Given the description of an element on the screen output the (x, y) to click on. 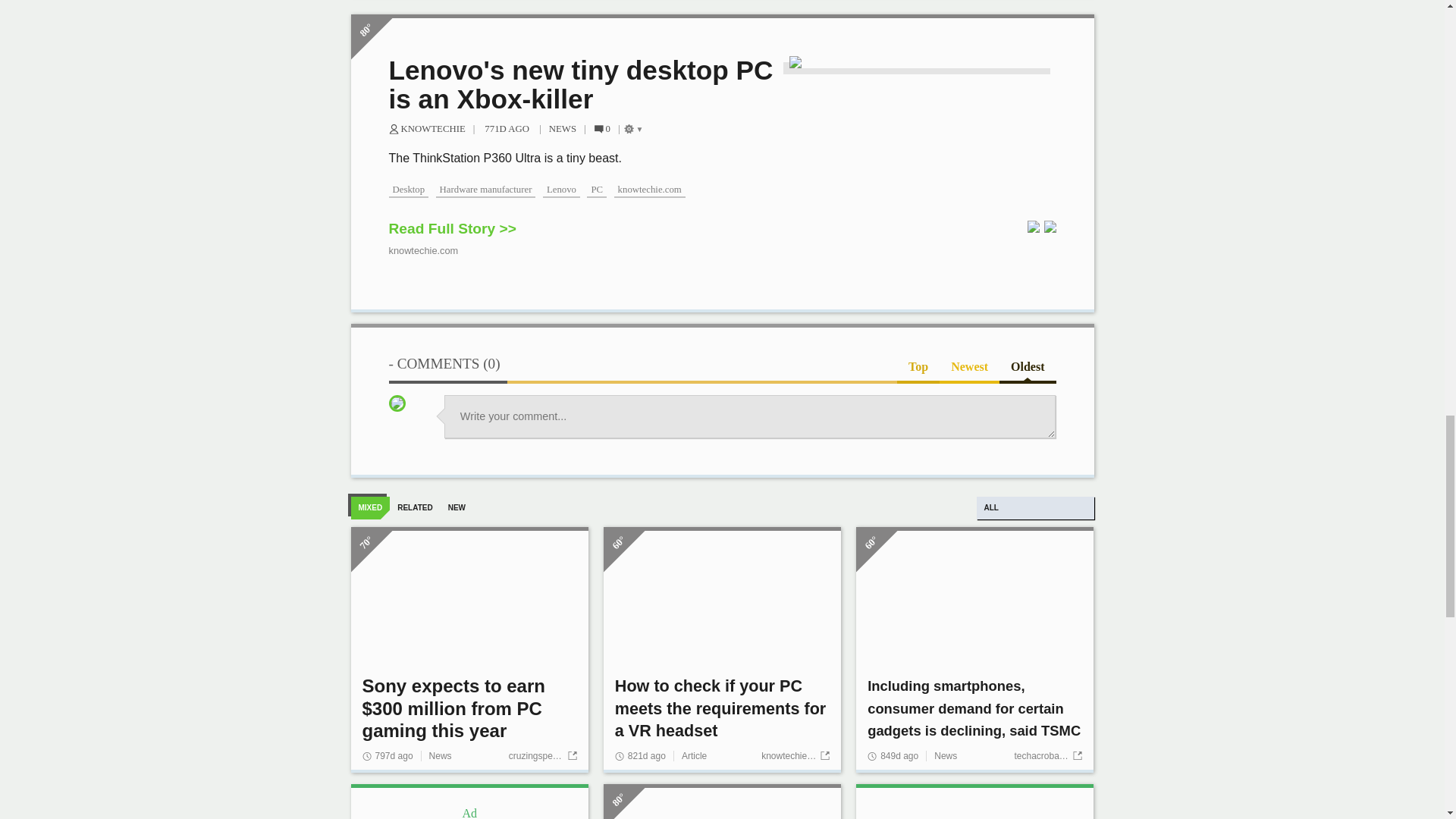
Go to source: techacrobat.com (1047, 771)
Go to source: knowtechie.com (795, 771)
Go to source: cruzingspeed.com (542, 771)
